Given the description of an element on the screen output the (x, y) to click on. 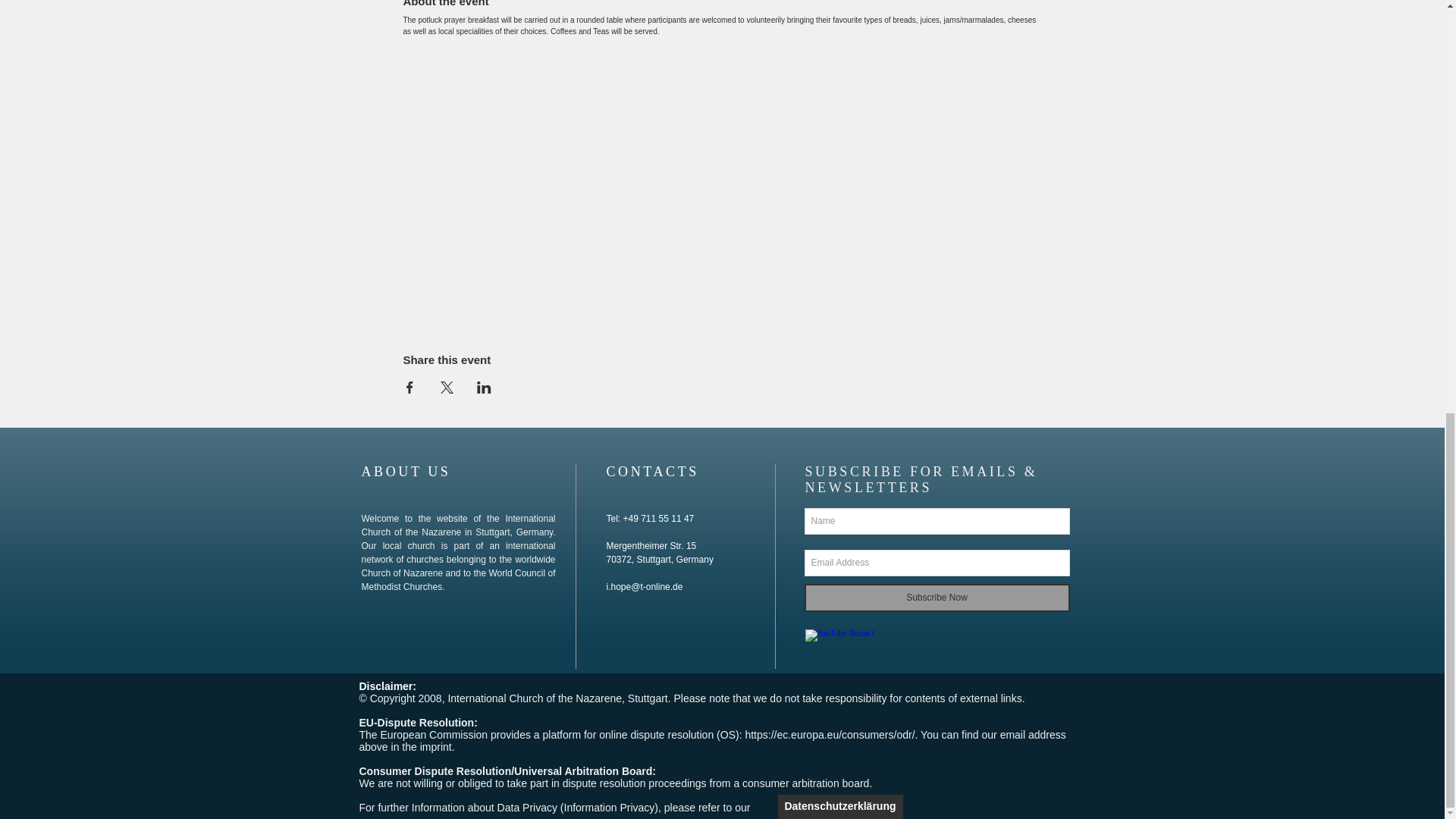
Subscribe Now (935, 597)
